Given the description of an element on the screen output the (x, y) to click on. 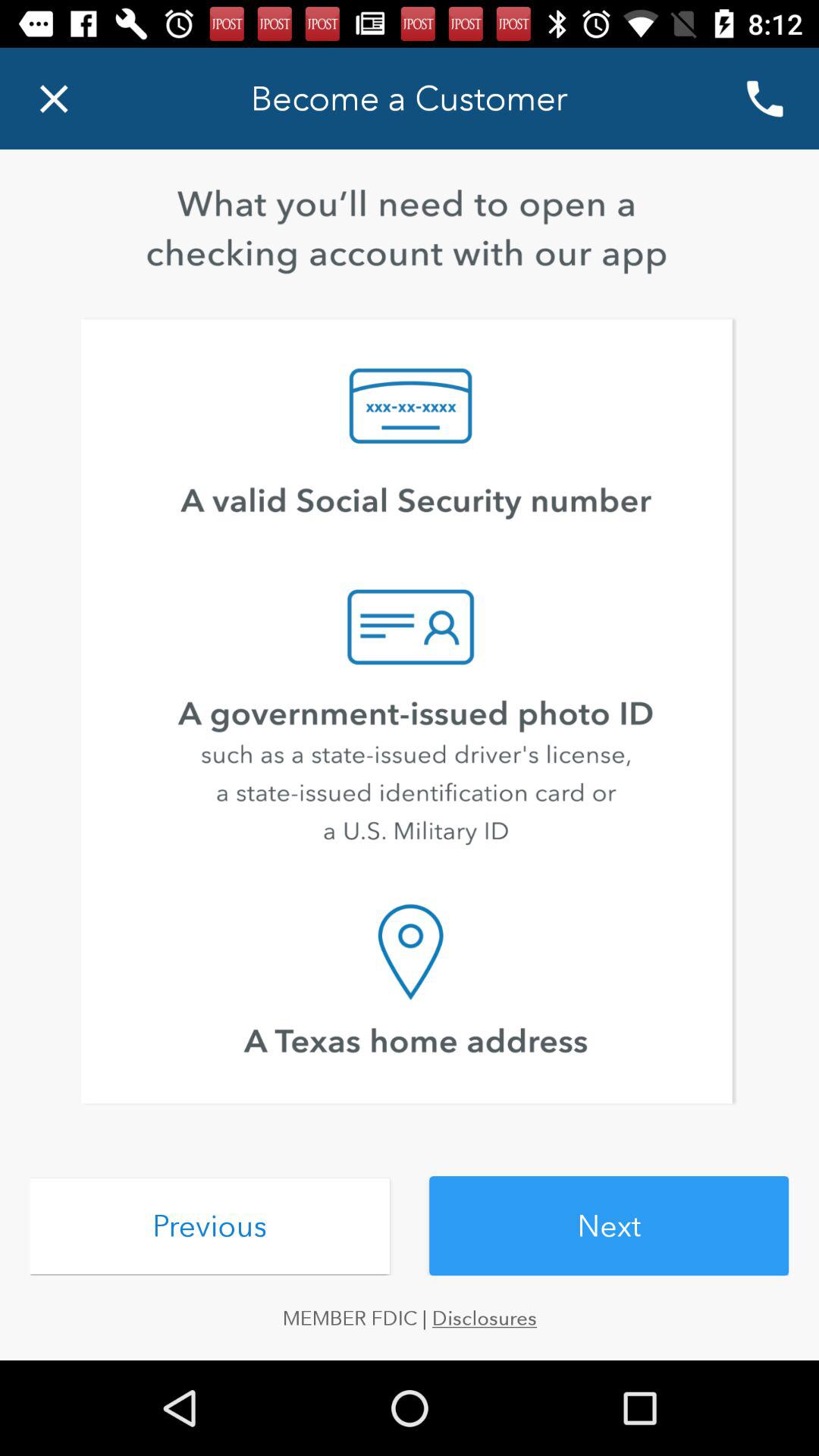
press the icon to the left of the next icon (209, 1226)
